Given the description of an element on the screen output the (x, y) to click on. 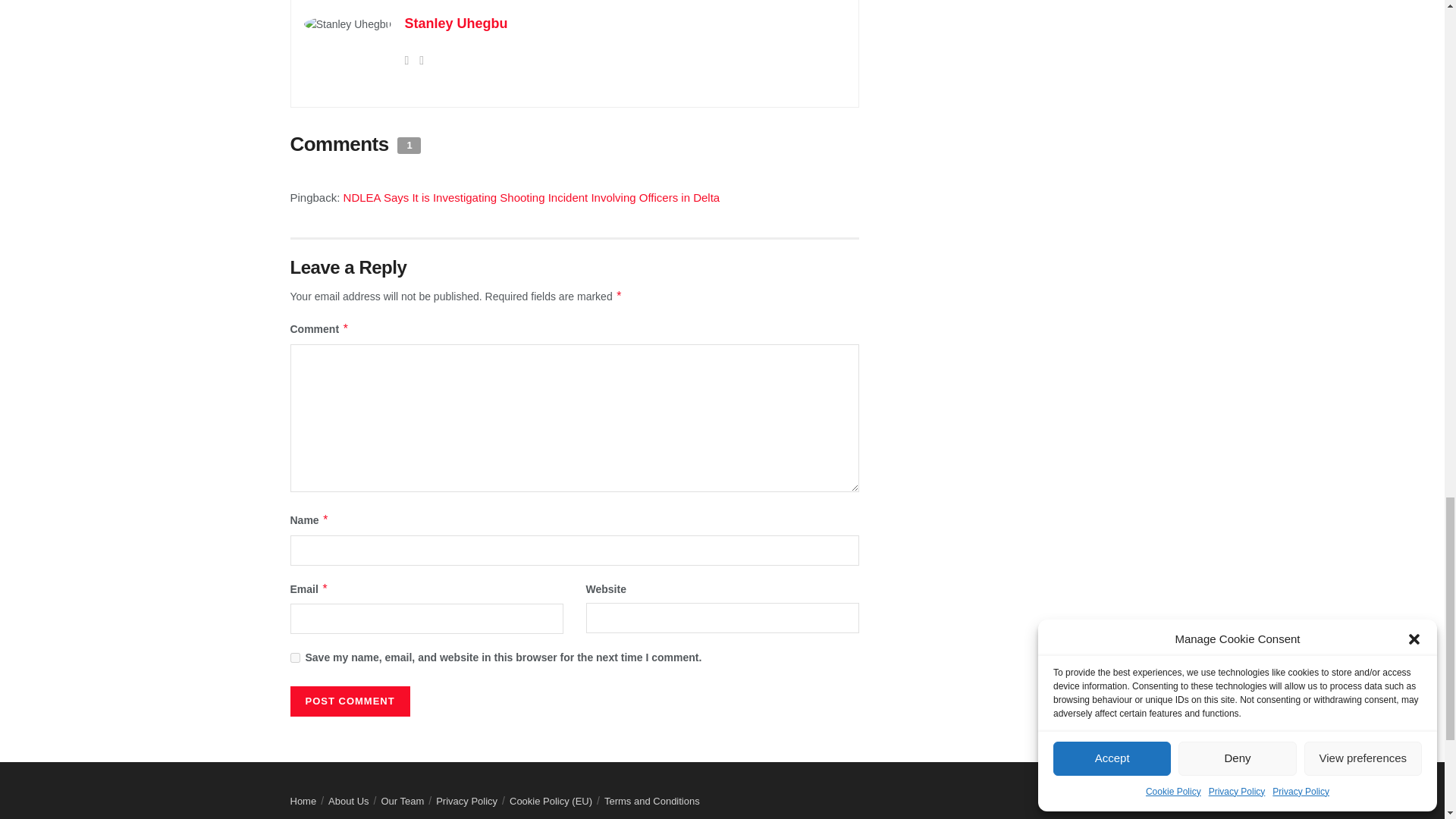
Post Comment (349, 701)
yes (294, 657)
